Given the description of an element on the screen output the (x, y) to click on. 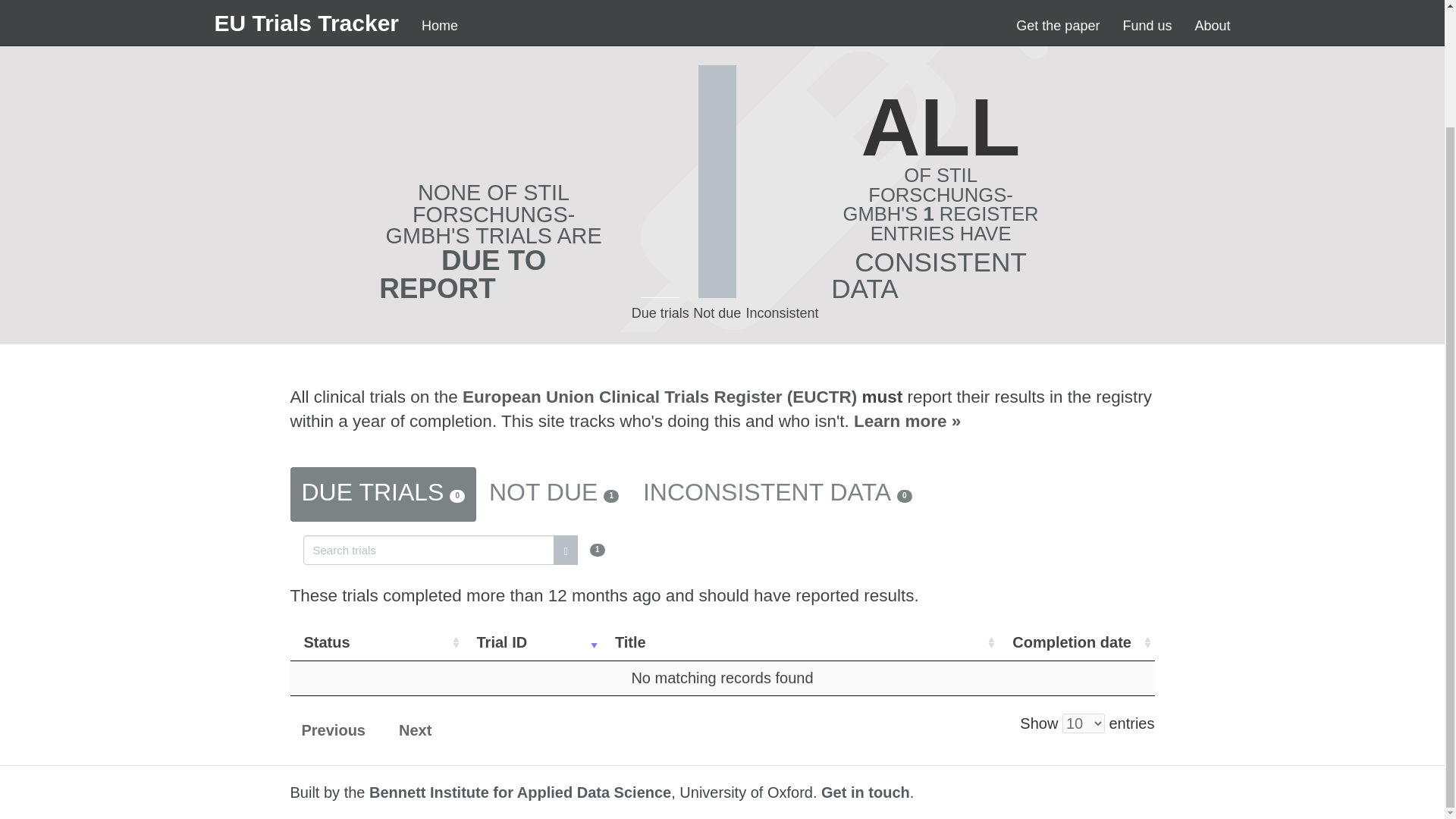
DUE TRIALS0 (382, 493)
Get in touch (865, 791)
NOT DUE1 (553, 493)
1 (453, 548)
Next (414, 730)
INCONSISTENT DATA0 (777, 493)
Previous (332, 730)
Bennett Institute for Applied Data Science (520, 791)
